Given the description of an element on the screen output the (x, y) to click on. 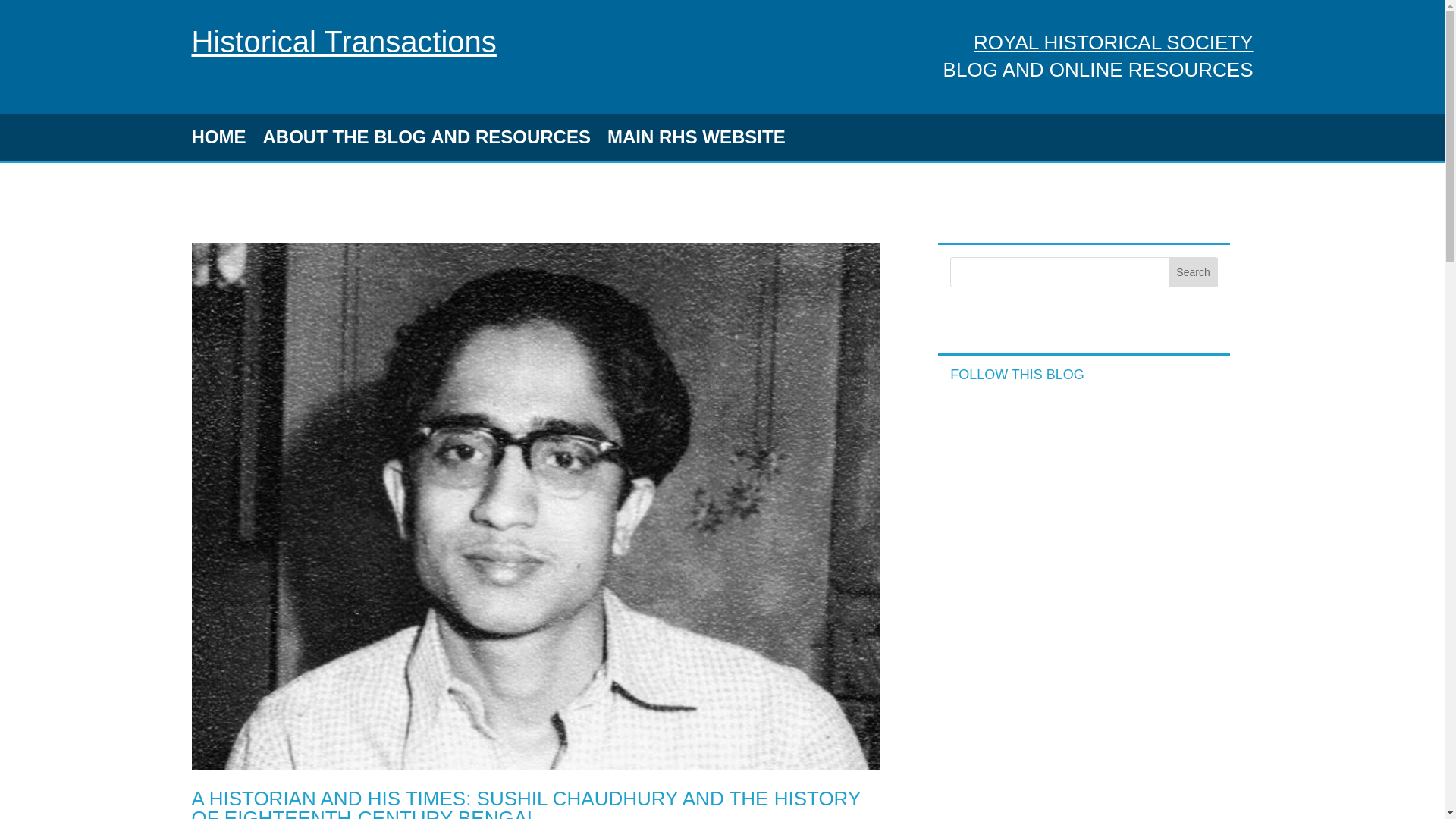
ROYAL HISTORICAL SOCIETY (1113, 42)
ABOUT THE BLOG AND RESOURCES (425, 139)
Search (1193, 272)
MAIN RHS WEBSITE (696, 139)
Home (343, 41)
Search (1193, 272)
HOME (218, 139)
Historical Transactions (343, 41)
